Given the description of an element on the screen output the (x, y) to click on. 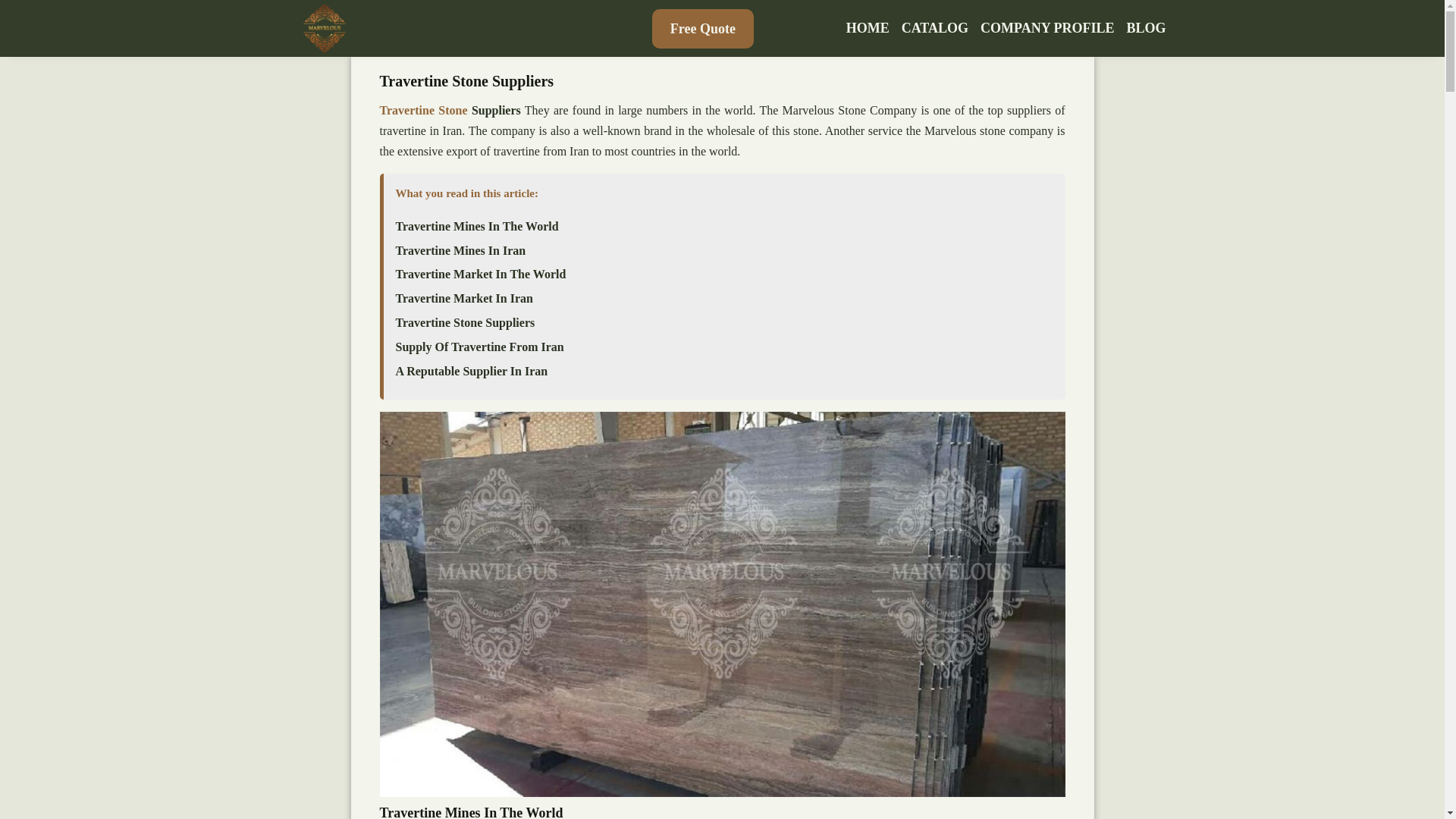
BLOG (1145, 28)
Travertine Mines In The World (477, 226)
A Reputable Supplier In Iran (472, 371)
CATALOG (934, 28)
Travertine Market In The World (481, 274)
Supply Of Travertine From Iran (480, 346)
Travertine Stone Suppliers (465, 323)
COMPANY PROFILE (1046, 28)
HOME (867, 28)
Travertine Market In Iran (464, 298)
